Given the description of an element on the screen output the (x, y) to click on. 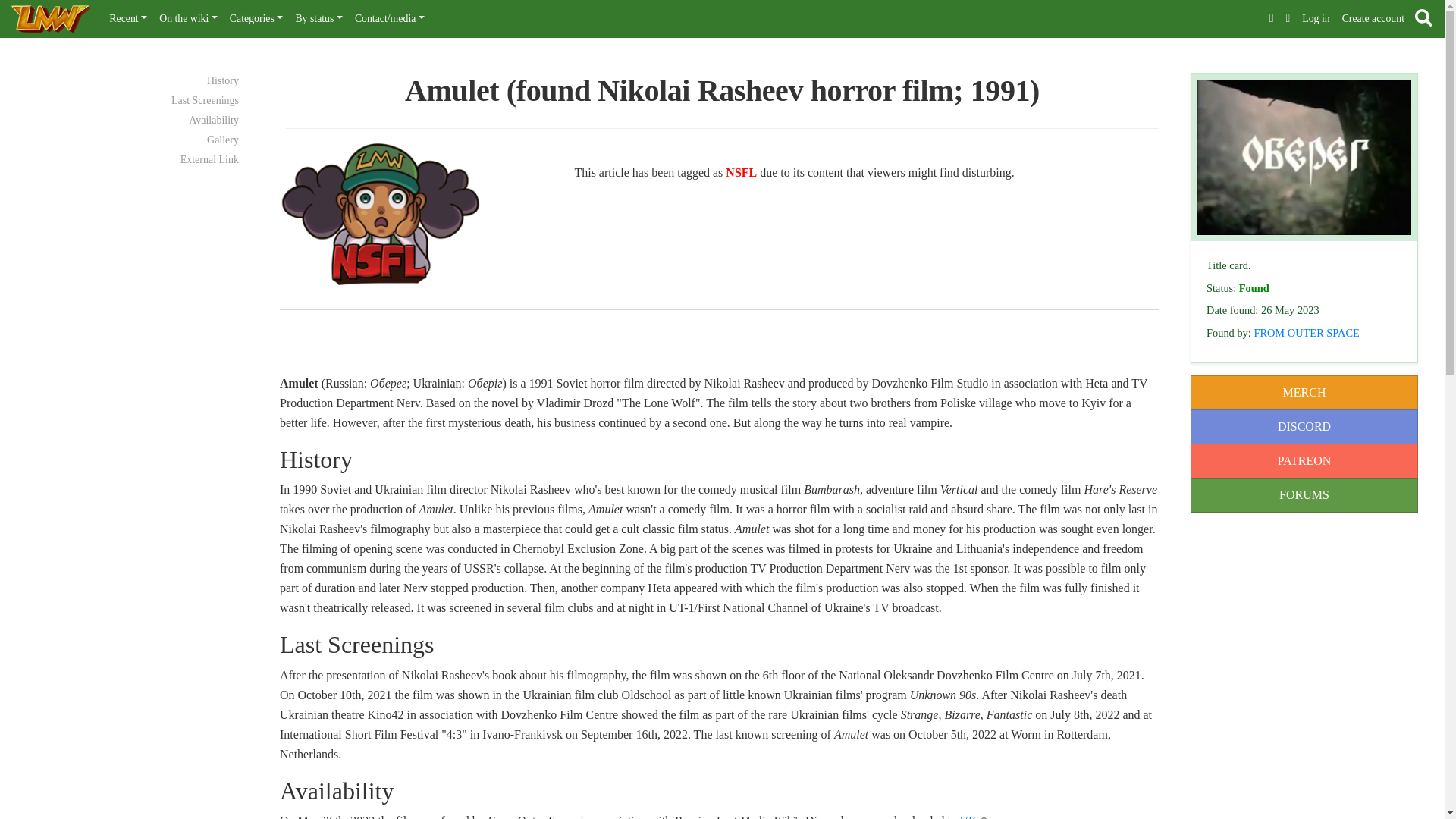
On the wiki (188, 19)
Categories (256, 19)
By status (318, 19)
Recent (127, 19)
LMW-tan (380, 212)
